Given the description of an element on the screen output the (x, y) to click on. 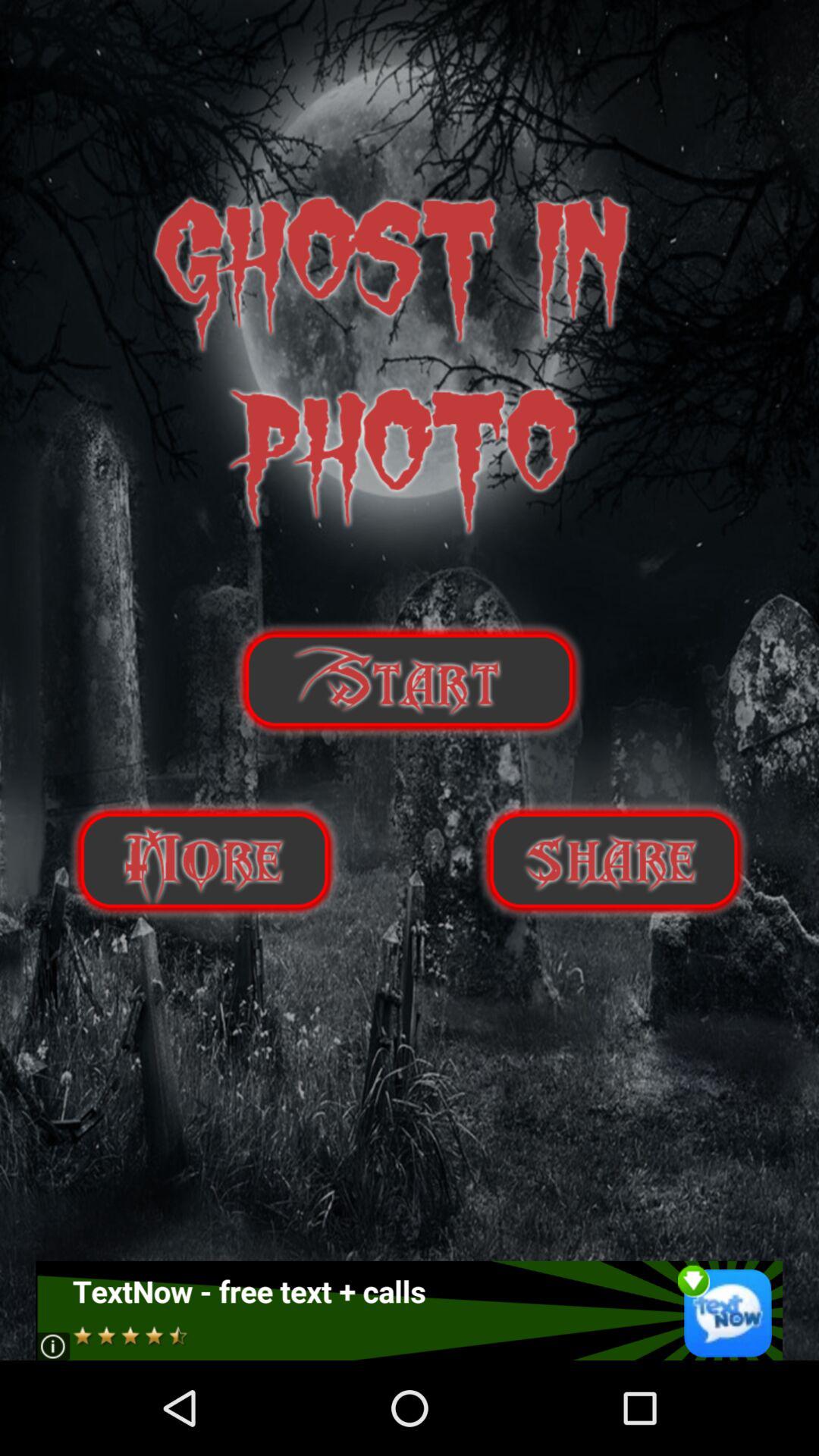
get more information (204, 860)
